Given the description of an element on the screen output the (x, y) to click on. 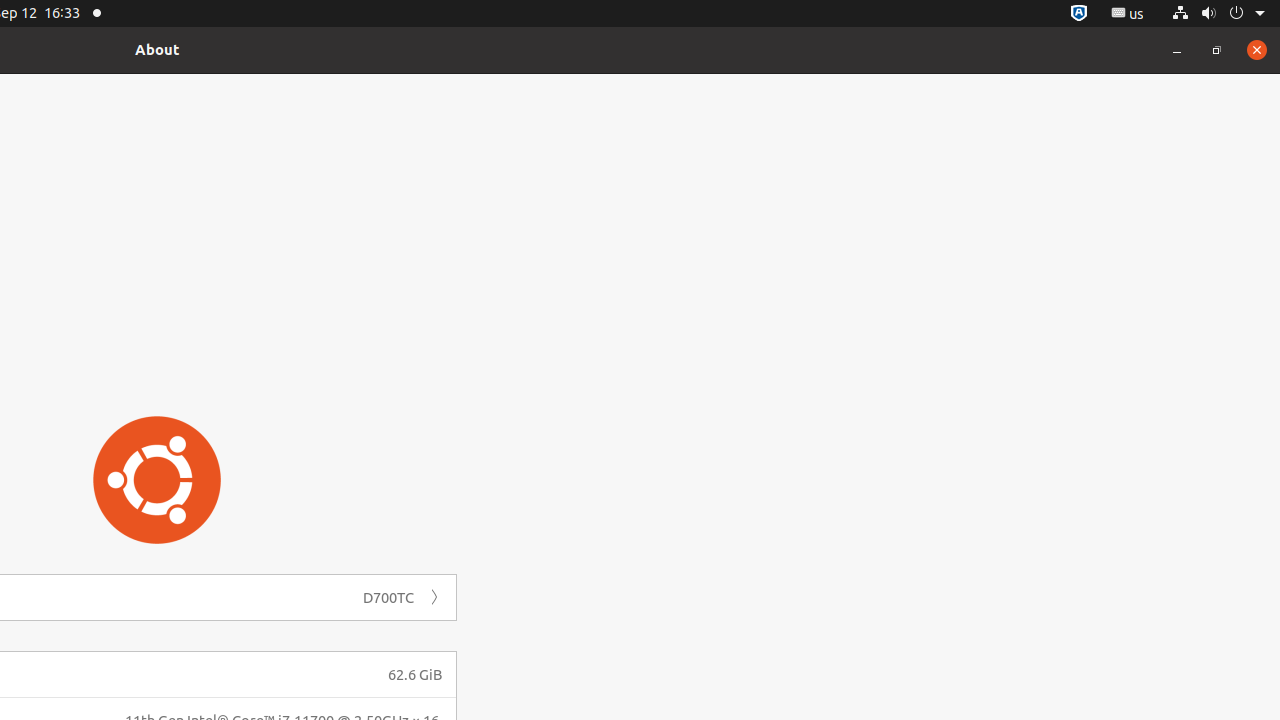
Close Element type: push-button (1257, 50)
D700TC Element type: label (388, 597)
About Element type: label (157, 49)
